Given the description of an element on the screen output the (x, y) to click on. 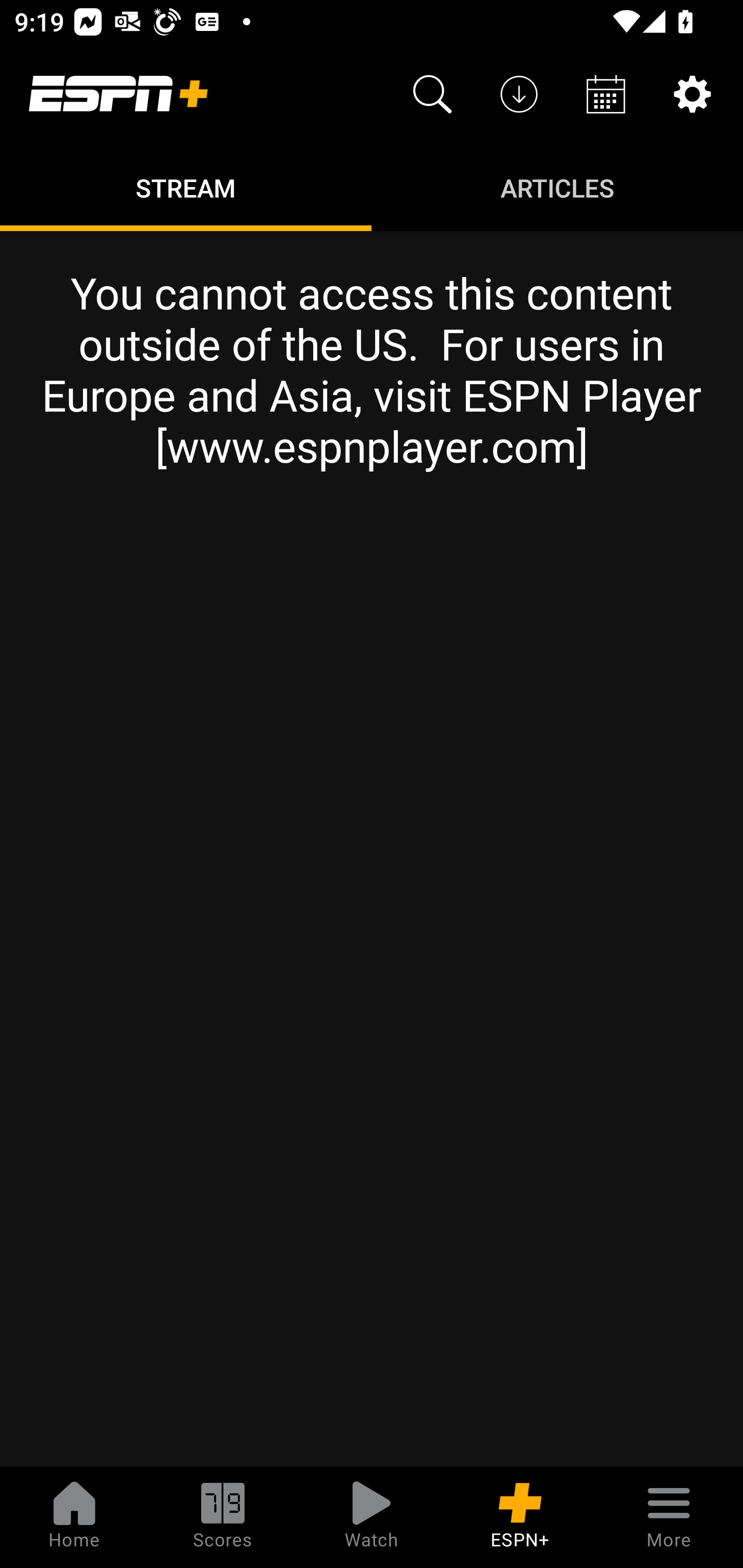
Search (432, 93)
Downloads (518, 93)
Schedule (605, 93)
Settings (692, 93)
Articles ARTICLES (557, 187)
Home (74, 1517)
Scores (222, 1517)
Watch (371, 1517)
More (668, 1517)
